Given the description of an element on the screen output the (x, y) to click on. 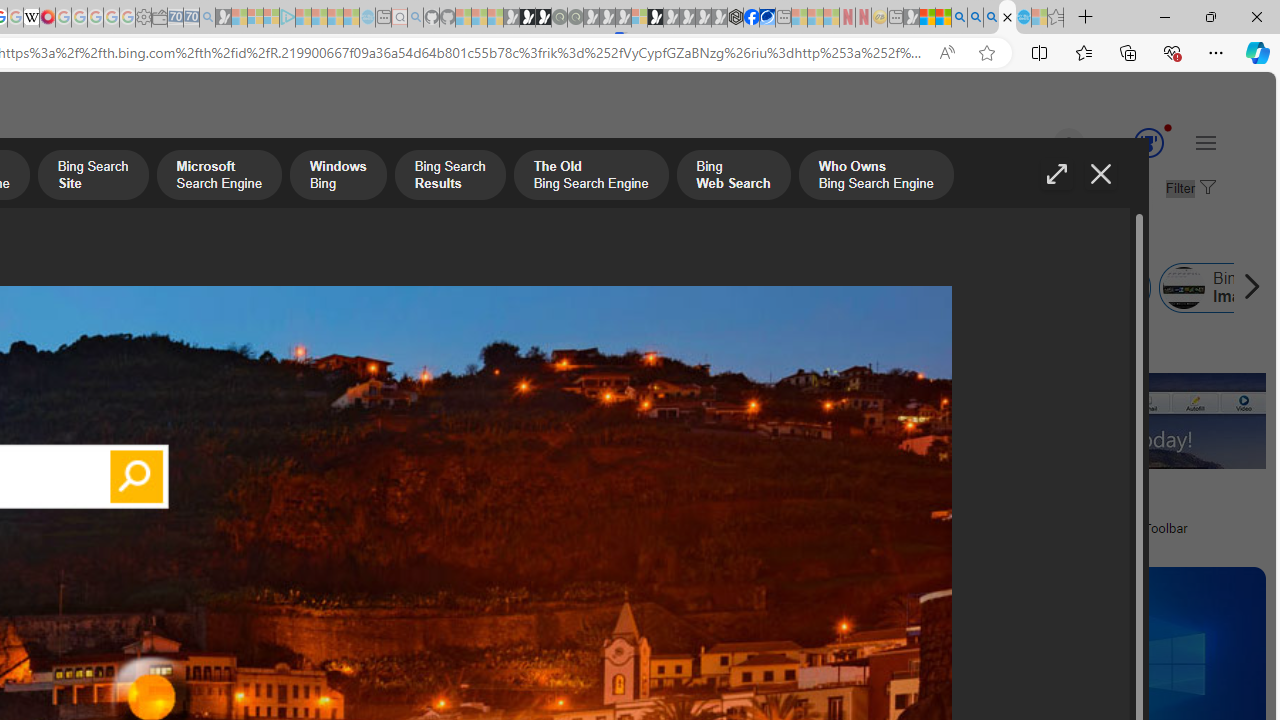
MediaWiki (47, 17)
Scroll right (1246, 287)
Bing Search Site (92, 177)
Windows Bing (337, 177)
Services - Maintenance | Sky Blue Bikes - Sky Blue Bikes (1023, 17)
